Given the description of an element on the screen output the (x, y) to click on. 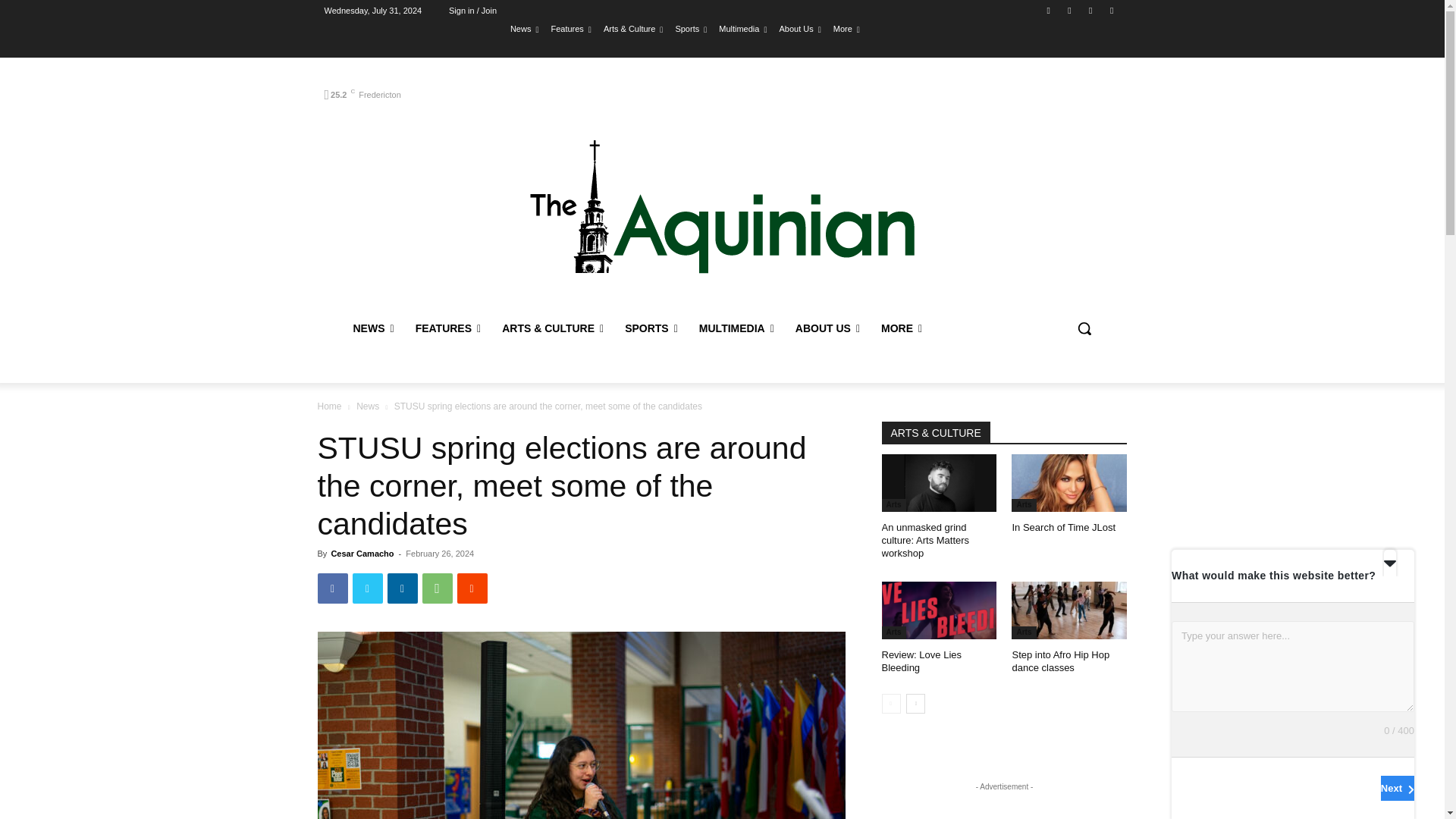
Linkedin (401, 588)
News (524, 28)
View all posts in News (367, 406)
Facebook (1048, 9)
Youtube (1112, 9)
Facebook (332, 588)
Instagram (1069, 9)
Twitter (1090, 9)
Twitter (366, 588)
